Given the description of an element on the screen output the (x, y) to click on. 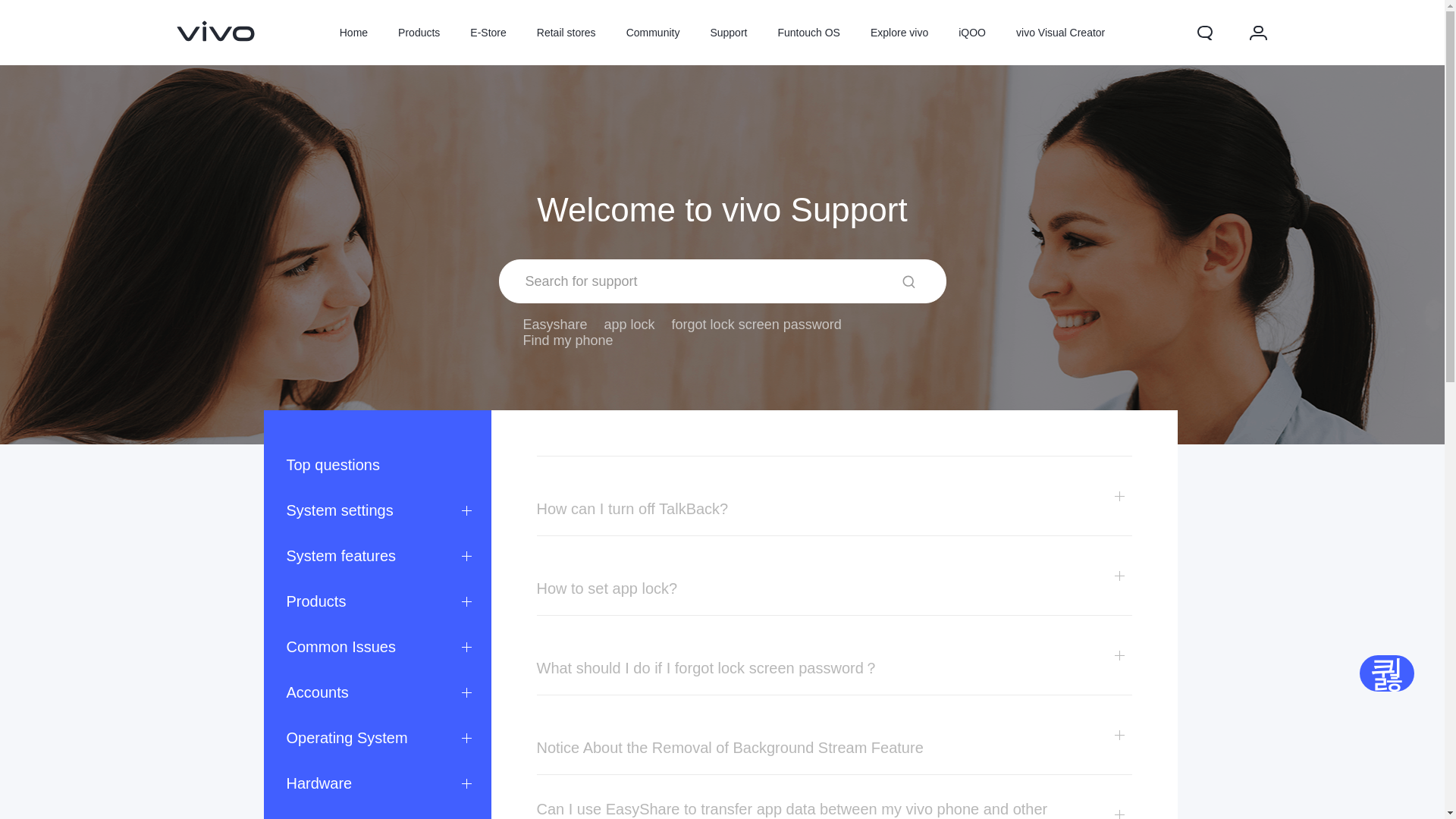
Products (377, 601)
Explore vivo (899, 32)
iQOO (972, 32)
Home (353, 32)
Products (418, 32)
System settings (377, 510)
Retail stores (566, 32)
Community (653, 32)
System features (377, 555)
Common Issues (377, 646)
vivo Visual Creator (1060, 32)
E-Store (487, 32)
Funtouch OS (808, 32)
Support (727, 32)
Top questions (377, 464)
